Given the description of an element on the screen output the (x, y) to click on. 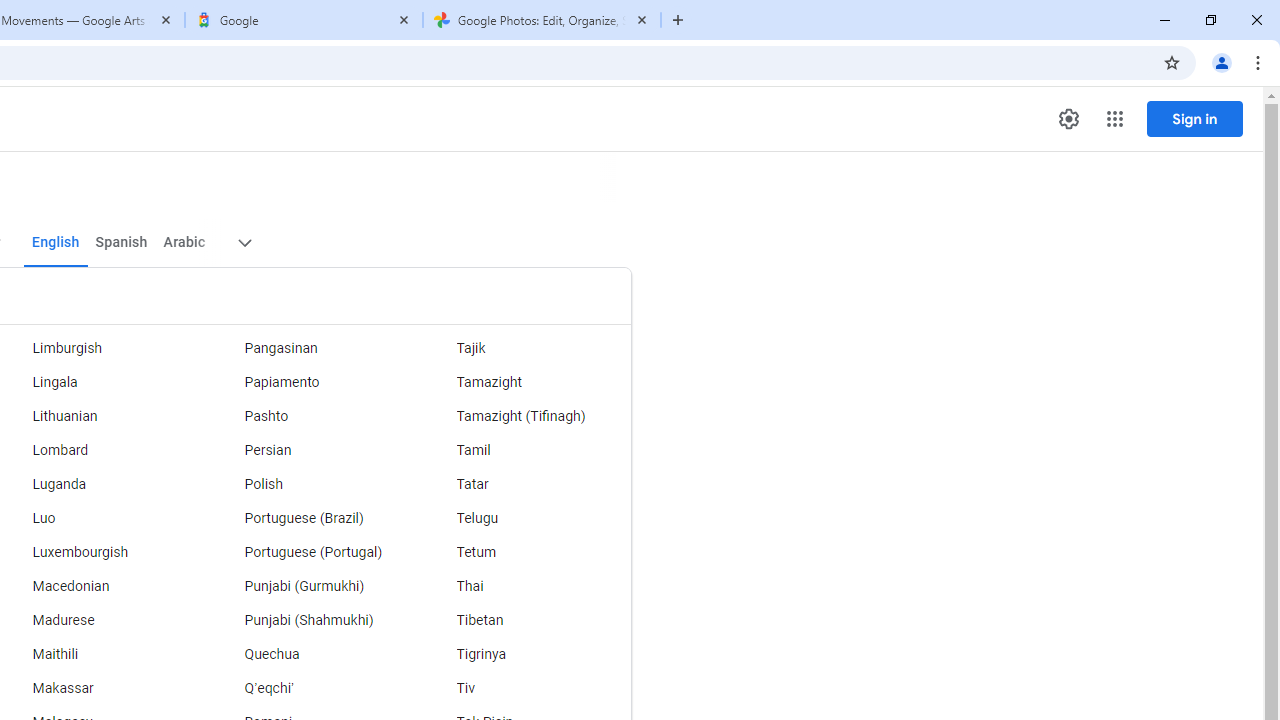
English (55, 242)
Portuguese (Brazil) (312, 518)
Tamil (525, 450)
Punjabi (Gurmukhi) (312, 586)
Portuguese (Portugal) (312, 552)
Spanish (121, 242)
Tigrinya (525, 655)
Tamazight (Tifinagh) (525, 416)
Tajik (525, 348)
More target languages (244, 242)
Tetum (525, 552)
Tiv (525, 688)
